Given the description of an element on the screen output the (x, y) to click on. 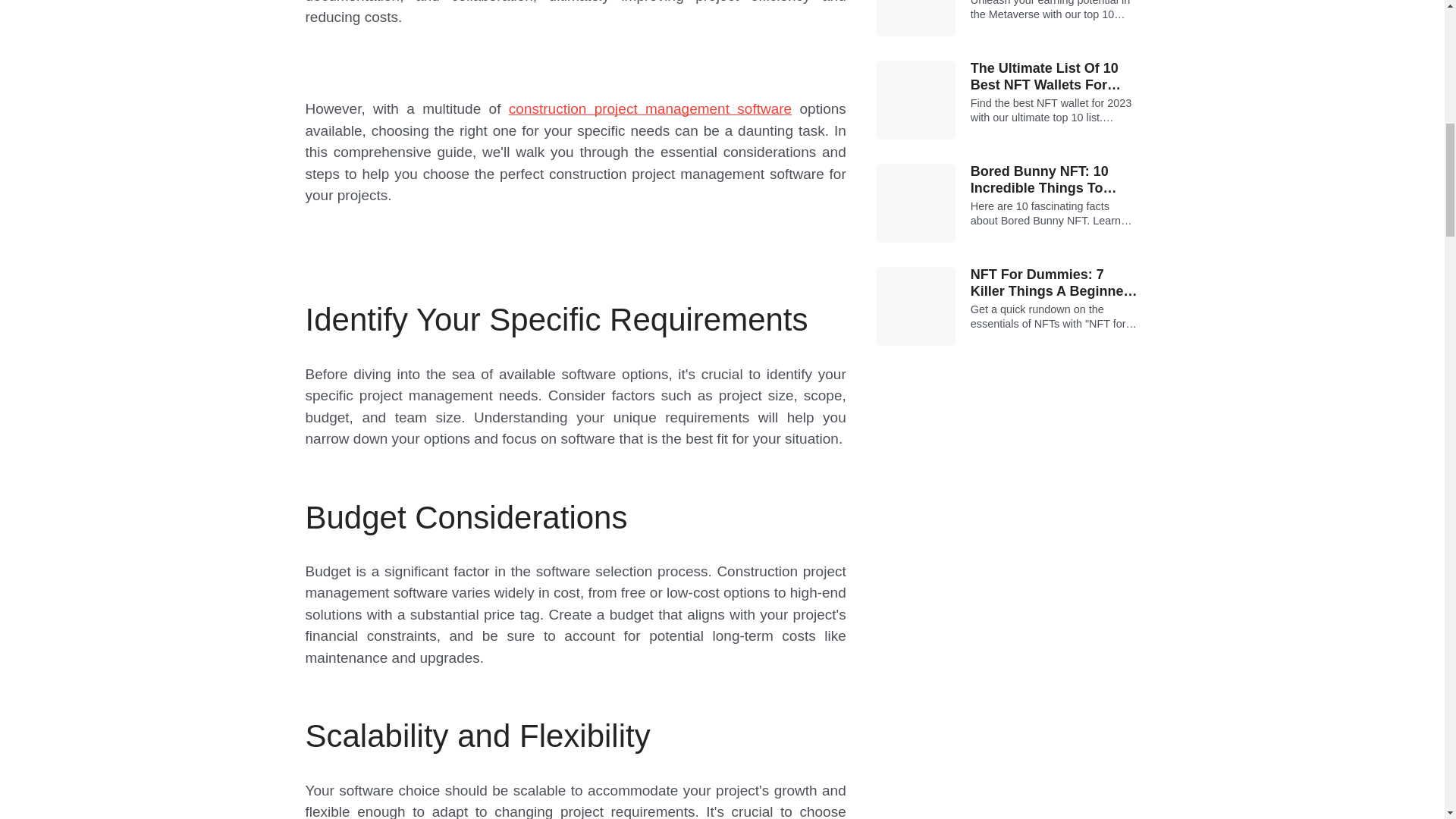
construction project management software (650, 108)
